Given the description of an element on the screen output the (x, y) to click on. 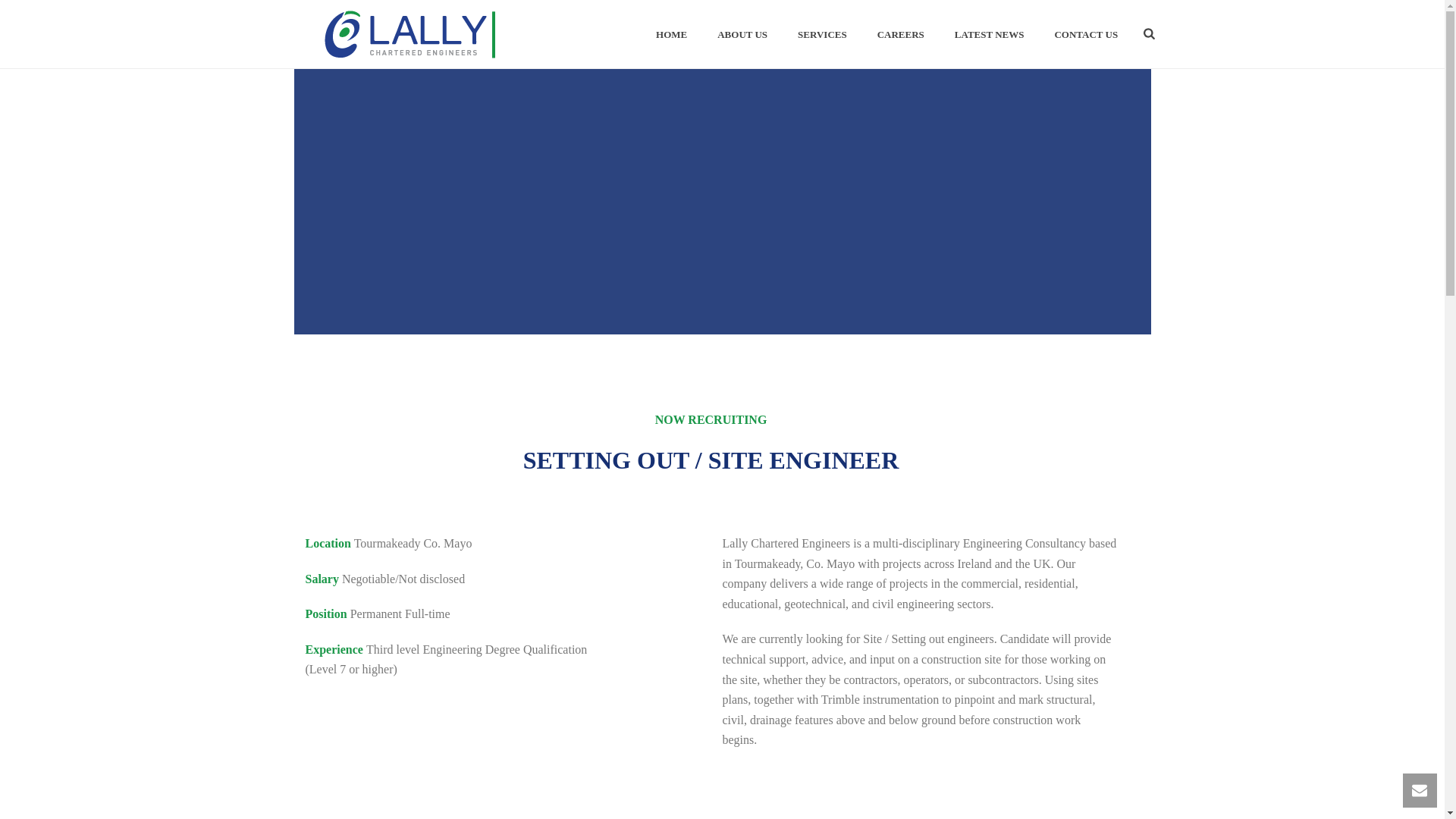
LATEST NEWS (989, 34)
ABOUT US (742, 34)
Consulting Engineers (408, 33)
CONTACT US (1085, 34)
SERVICES (822, 34)
HOME (670, 34)
SERVICES (822, 34)
CAREERS (900, 34)
HOME (670, 34)
LATEST NEWS (989, 34)
